Given the description of an element on the screen output the (x, y) to click on. 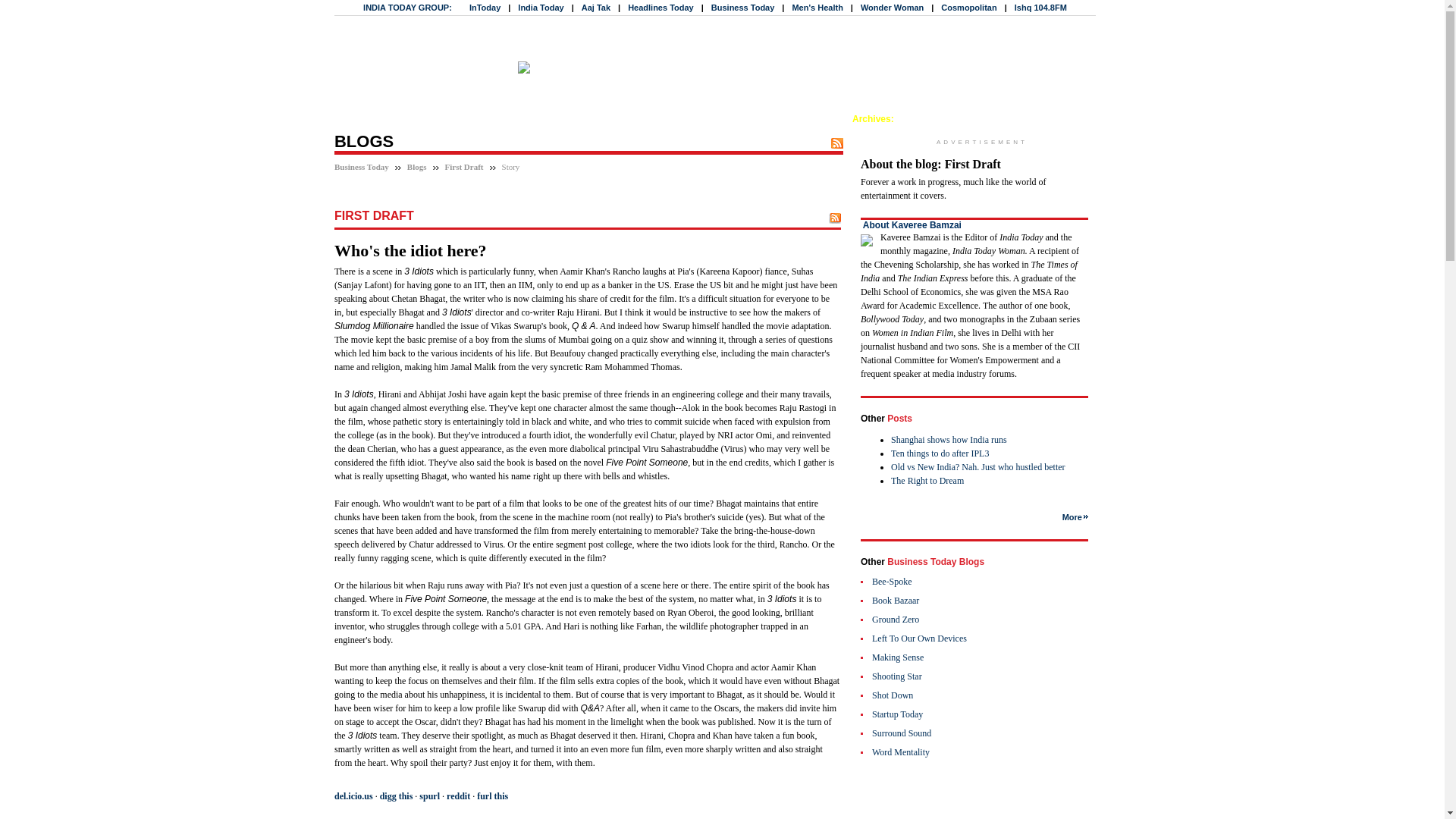
Ishq 104.8FM (1040, 7)
BT More (1055, 118)
TECHNOLOGY (537, 108)
Headlines Today (660, 7)
India Today (540, 7)
Business Today (742, 7)
Money Today (1000, 118)
MARKETS (416, 108)
ETCETERA (724, 108)
Aaj Tak (595, 7)
Archives (871, 118)
Men's Health (817, 7)
INDIA TODAY GROUP: (406, 7)
BIZ WRAP (361, 108)
InToday (484, 7)
